Given the description of an element on the screen output the (x, y) to click on. 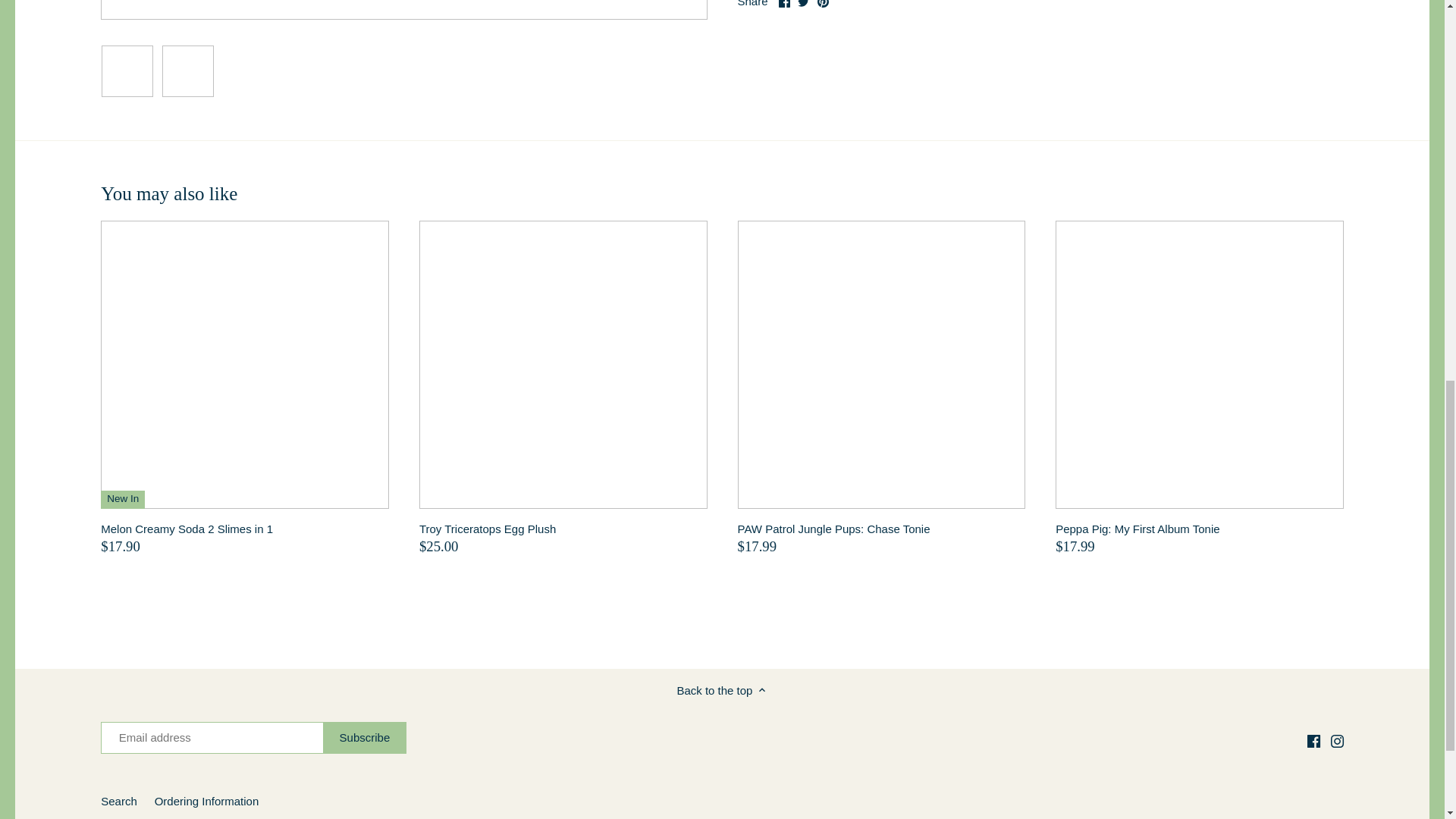
Facebook (784, 3)
Facebook (1313, 740)
Subscribe (365, 737)
Pinterest (822, 3)
Twitter (803, 3)
Instagram (1336, 740)
